Given the description of an element on the screen output the (x, y) to click on. 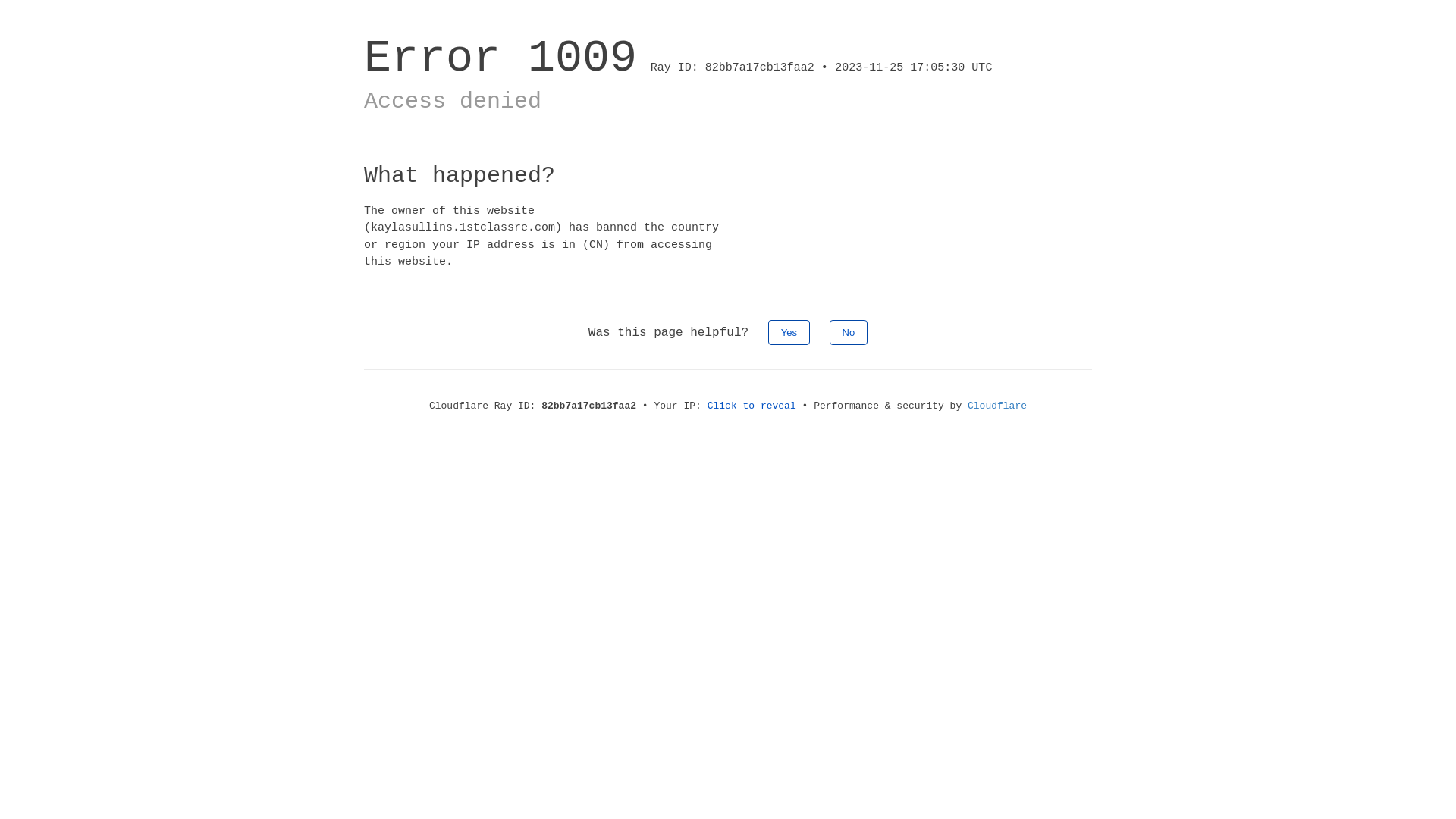
No Element type: text (848, 332)
Cloudflare Element type: text (996, 405)
Click to reveal Element type: text (751, 405)
Yes Element type: text (788, 332)
